Given the description of an element on the screen output the (x, y) to click on. 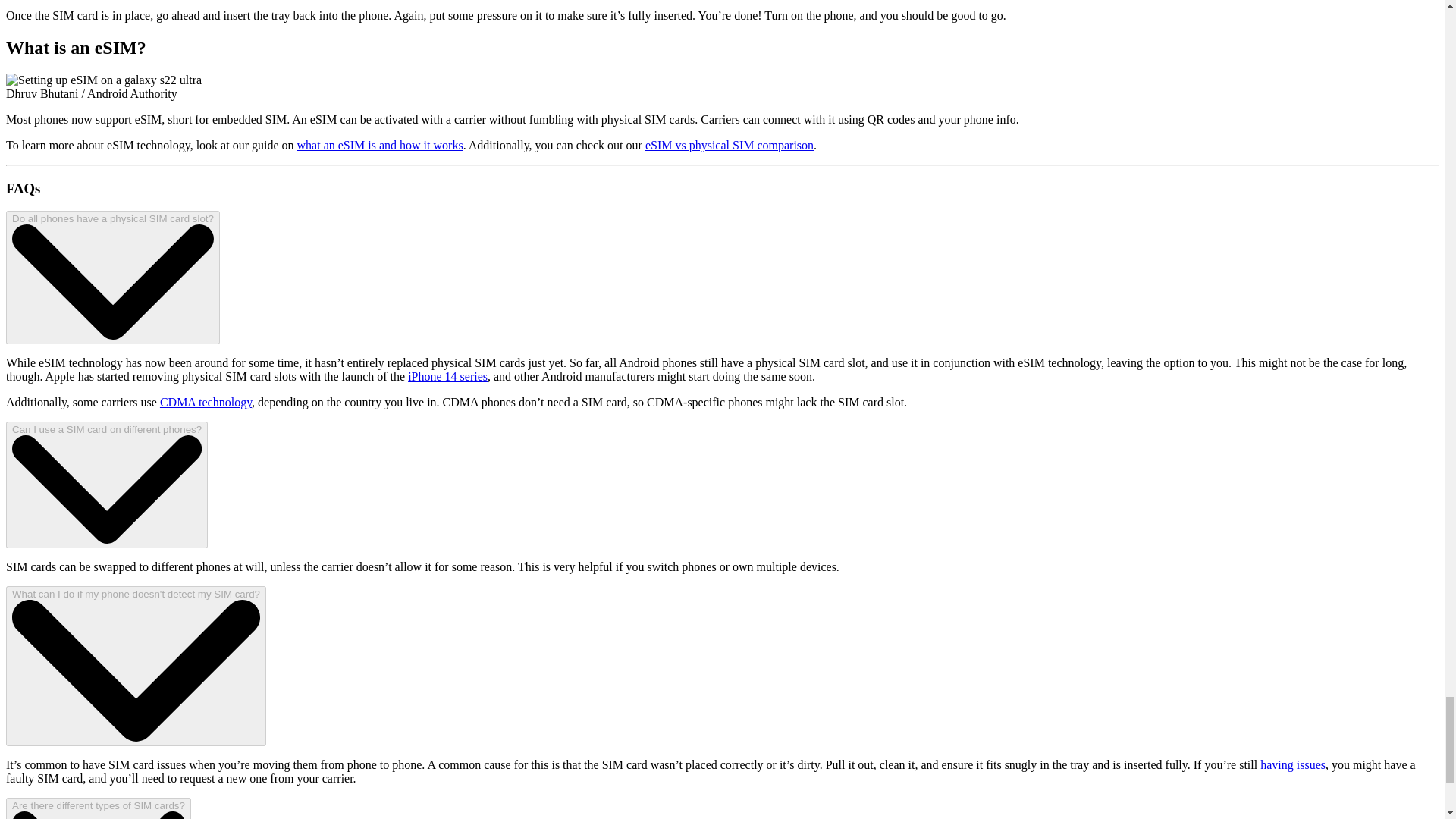
What can I do if my phone doesn't detect my SIM card? (135, 666)
CDMA technology (205, 401)
Do all phones have a physical SIM card slot? (112, 276)
what an eSIM is and how it works (380, 144)
Are there different types of SIM cards? (97, 808)
iPhone 14 series (447, 376)
Can I use a SIM card on different phones? (106, 484)
eSIM vs physical SIM comparison (729, 144)
Setting up eSIM on a galaxy s22 ultra (103, 79)
having issues (1292, 764)
